Given the description of an element on the screen output the (x, y) to click on. 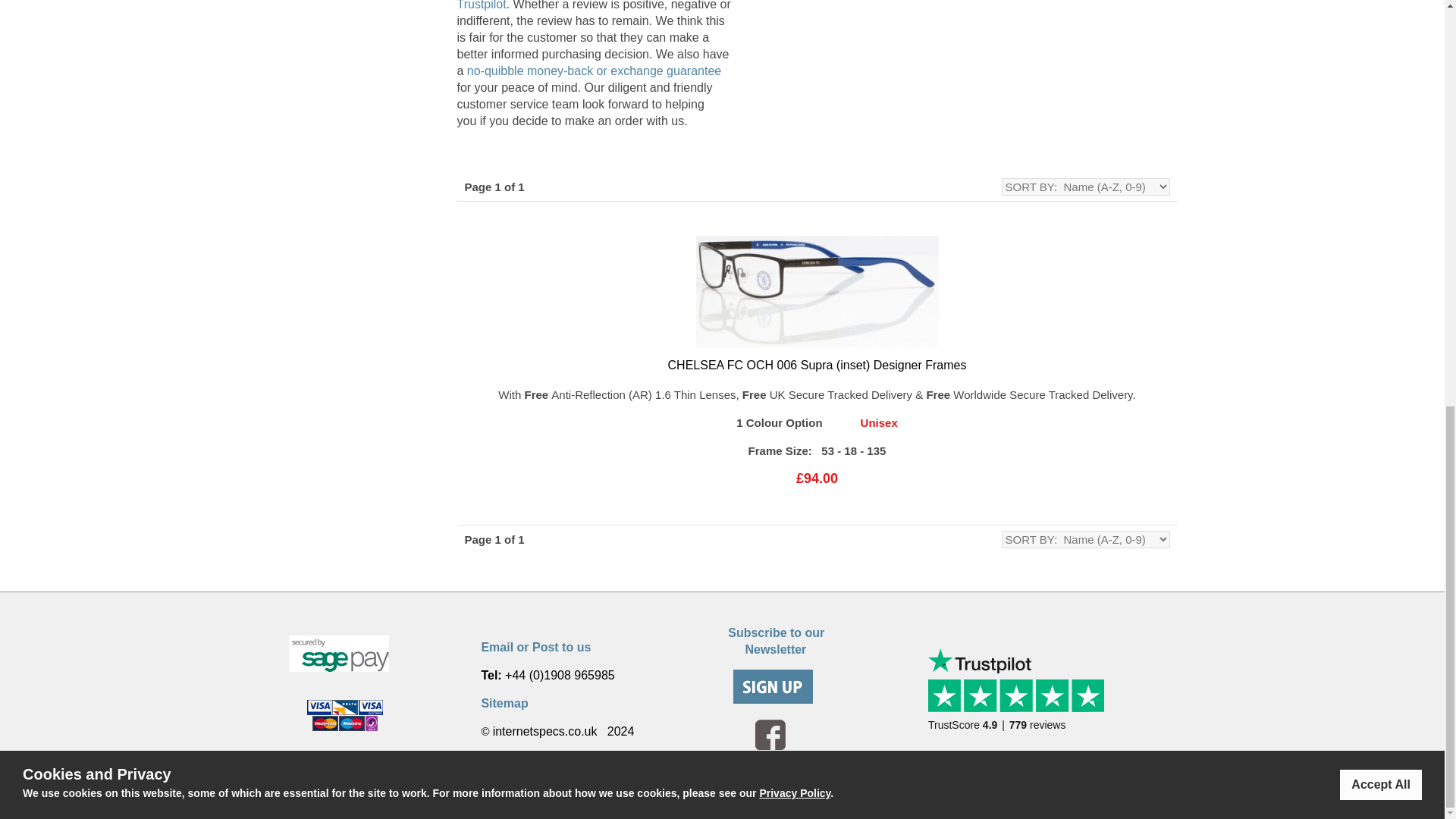
no-quibble money-back or exchange guarantee (593, 70)
Trustpilot (481, 5)
Customer reviews powered by Trustpilot (767, 640)
Sitemap (1021, 702)
Email or Post to us (503, 703)
